Given the description of an element on the screen output the (x, y) to click on. 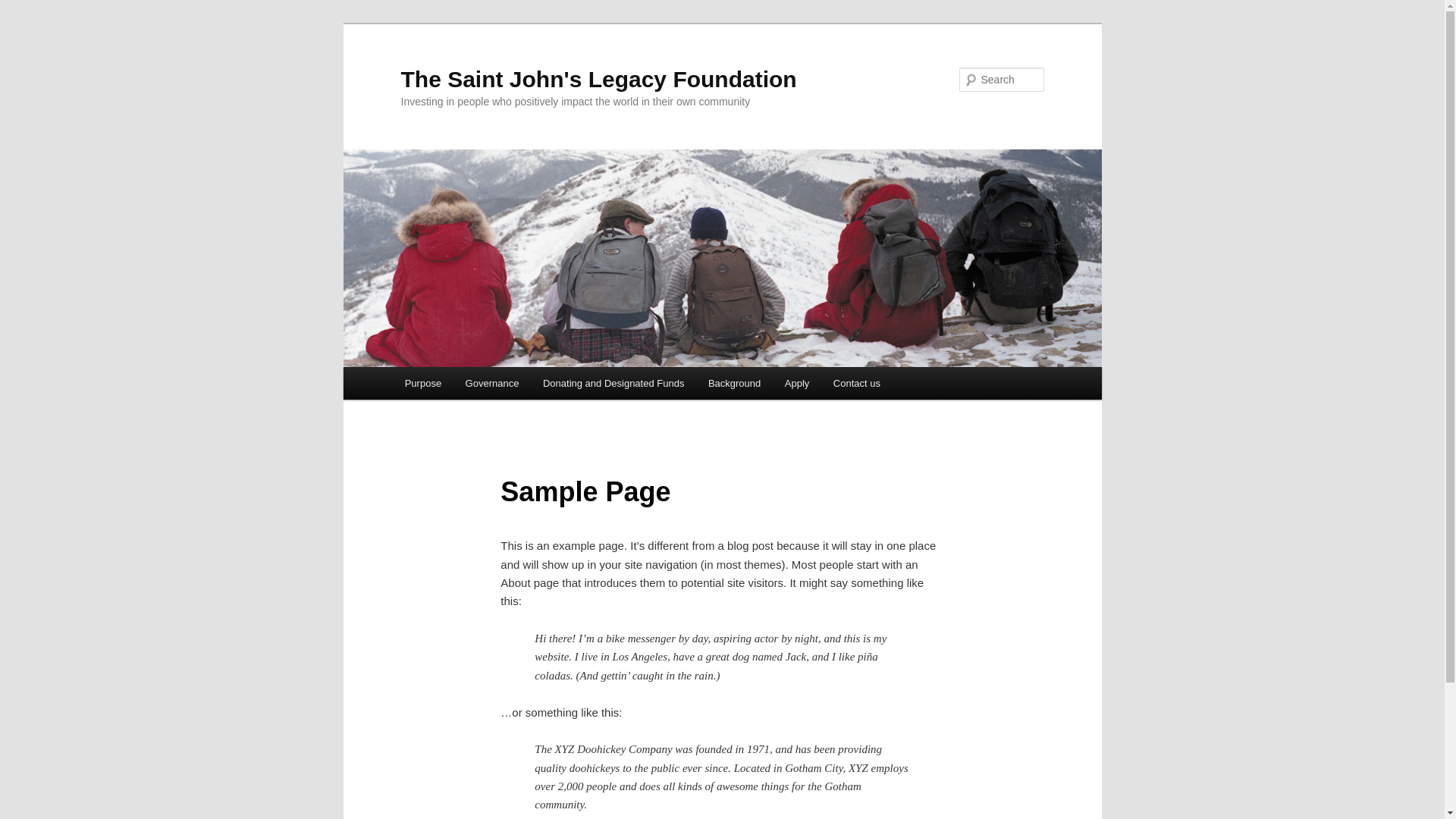
Background Element type: text (734, 383)
The Saint John's Legacy Foundation Element type: text (598, 78)
Donating and Designated Funds Element type: text (613, 383)
Contact us Element type: text (856, 383)
Skip to primary content Element type: text (414, 367)
Search Element type: text (24, 8)
Apply Element type: text (796, 383)
Purpose Element type: text (422, 383)
Governance Element type: text (491, 383)
